Given the description of an element on the screen output the (x, y) to click on. 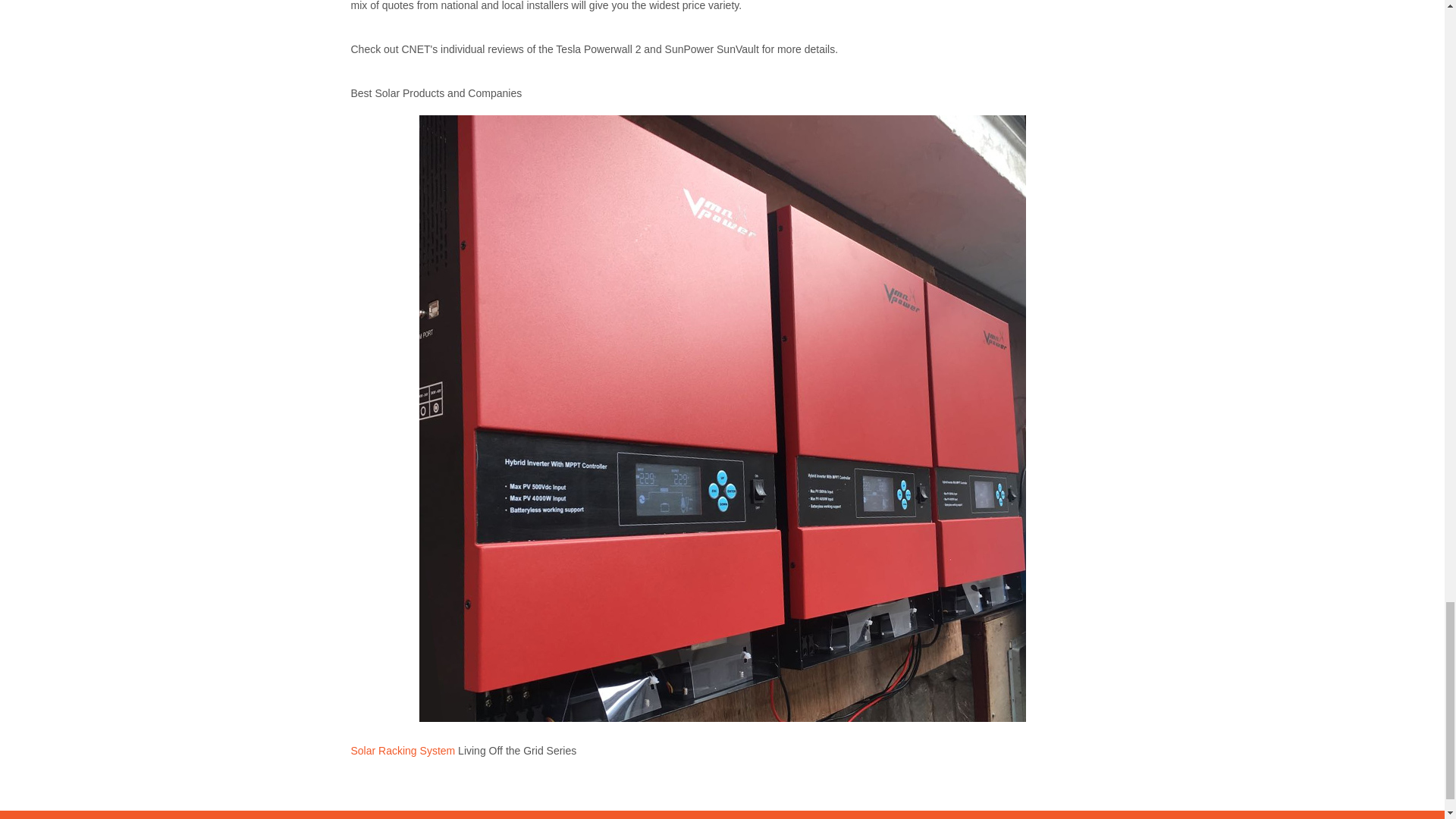
Solar Racking System (402, 750)
